Given the description of an element on the screen output the (x, y) to click on. 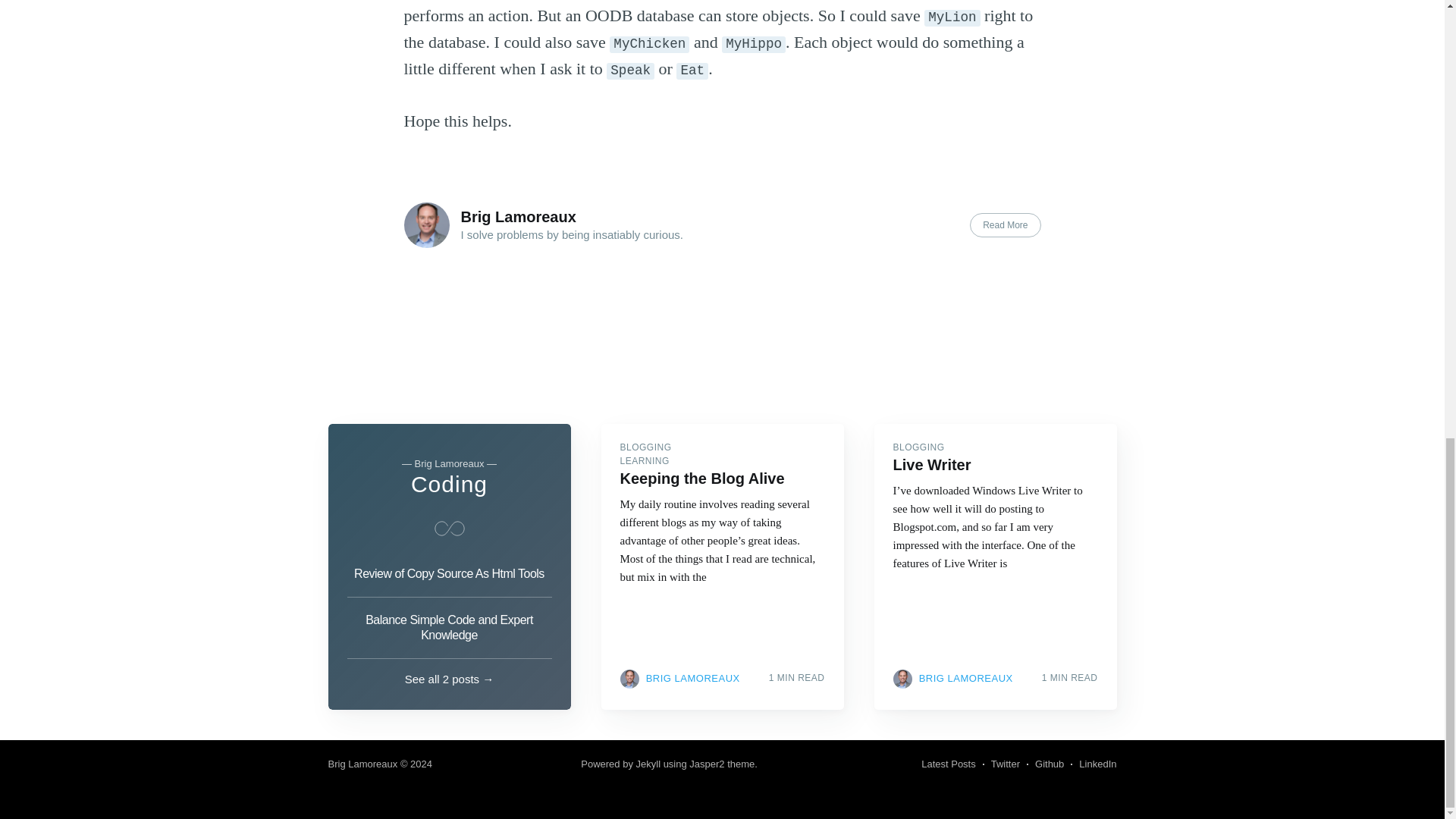
Brig Lamoreaux (518, 216)
Brig Lamoreaux (362, 763)
Github (1049, 764)
Jasper2 (705, 763)
BRIG LAMOREAUX (965, 677)
Review of Copy Source As Html Tools (449, 577)
LinkedIn (1097, 764)
Latest Posts (948, 764)
Balance Simple Code and Expert Knowledge (449, 628)
Twitter (1005, 764)
Read More (1005, 224)
Jekyll (648, 763)
Coding (448, 483)
BRIG LAMOREAUX (692, 677)
